Given the description of an element on the screen output the (x, y) to click on. 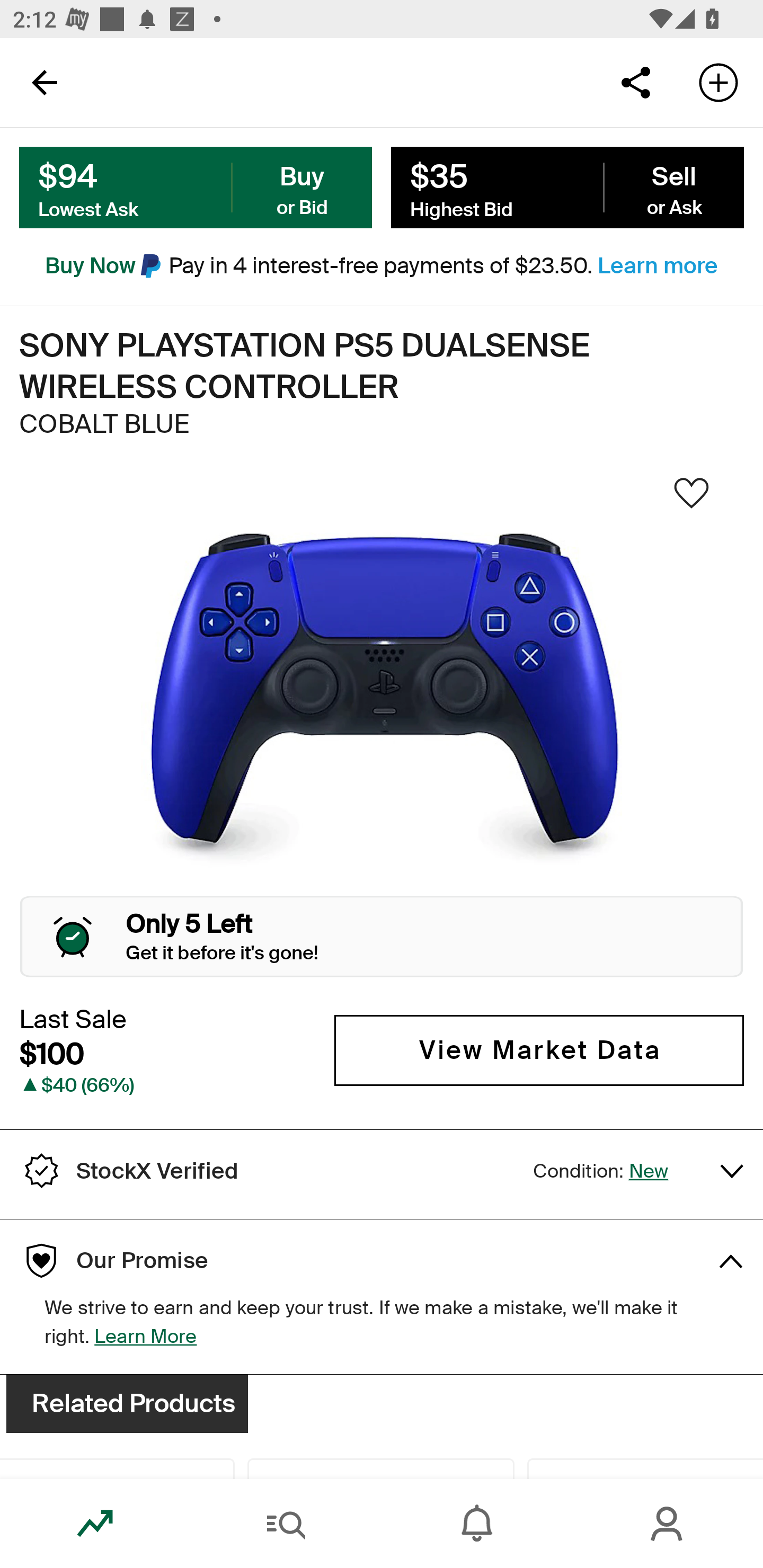
Share (635, 81)
Add (718, 81)
$233 Buy Lowest Ask or Bid (195, 187)
$219 Sell Highest Bid or Ask (566, 187)
Sneaker Image (381, 698)
View Market Data (538, 1050)
Search (285, 1523)
Inbox (476, 1523)
Account (667, 1523)
